Given the description of an element on the screen output the (x, y) to click on. 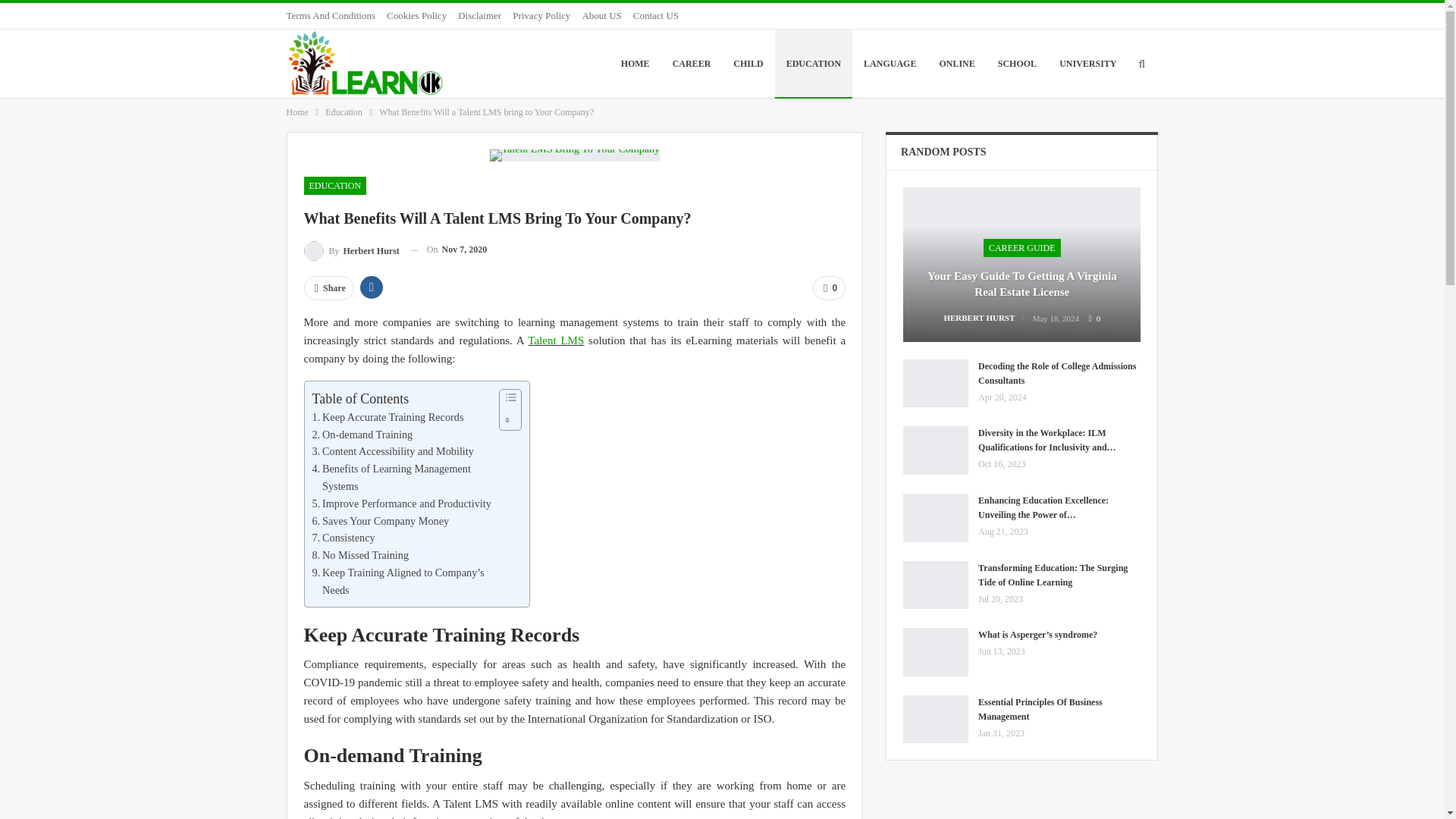
Home (297, 112)
Contact US (655, 15)
About US (600, 15)
Benefits of Learning Management Systems (402, 477)
CAREER (691, 63)
Saves Your Company Money (381, 520)
Keep Accurate Training Records (388, 416)
On-demand Training (363, 434)
Terms And Conditions (330, 15)
Benefits of Learning Management Systems (402, 477)
Consistency (344, 538)
Education (343, 112)
SCHOOL (1017, 63)
Content Accessibility and Mobility (393, 451)
Disclaimer (479, 15)
